Given the description of an element on the screen output the (x, y) to click on. 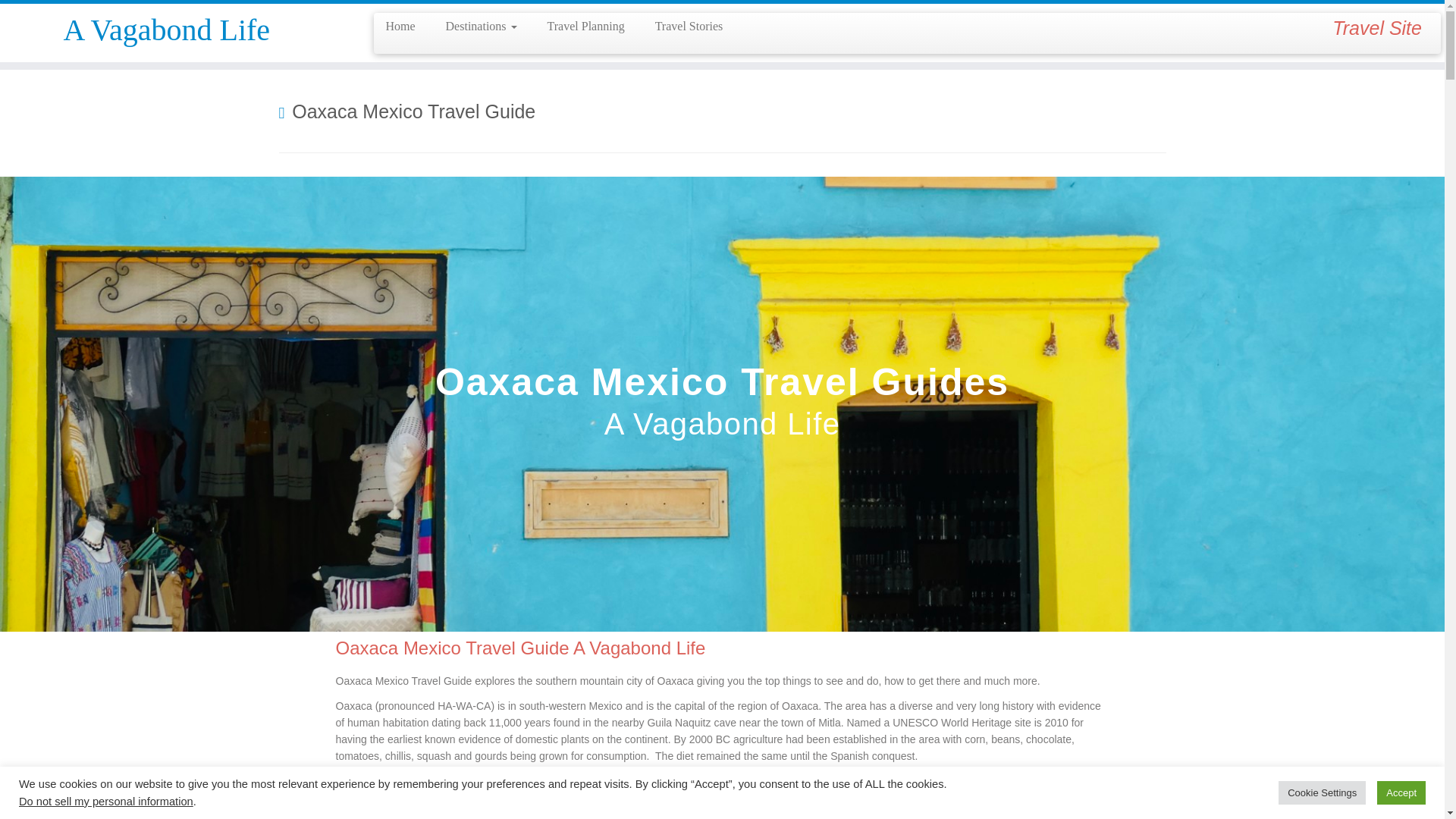
Home (405, 26)
A Vagabond Life (166, 30)
Destinations (481, 26)
